Given the description of an element on the screen output the (x, y) to click on. 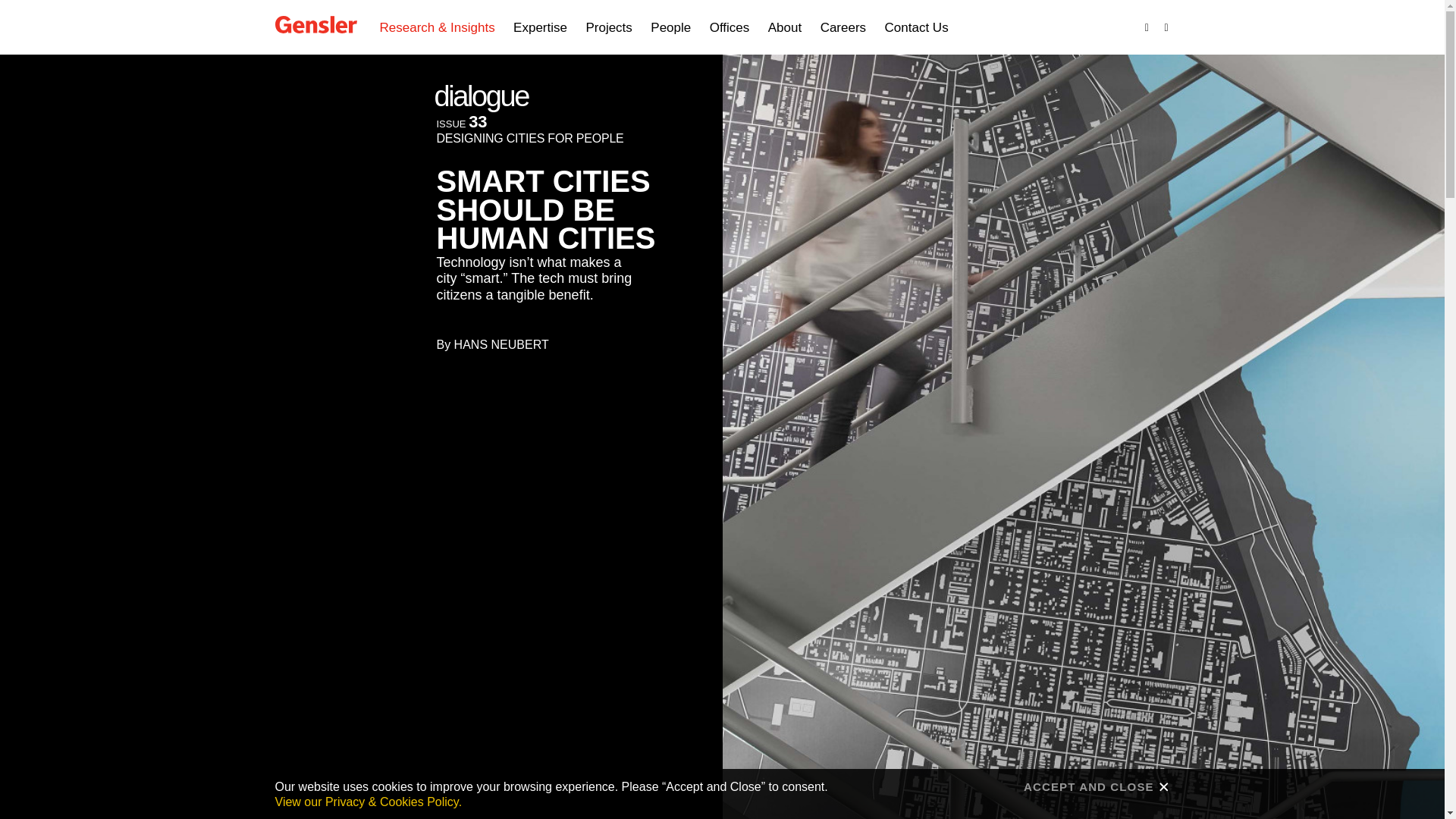
Expertise (540, 28)
Gensler (315, 25)
Gensler (315, 24)
